Given the description of an element on the screen output the (x, y) to click on. 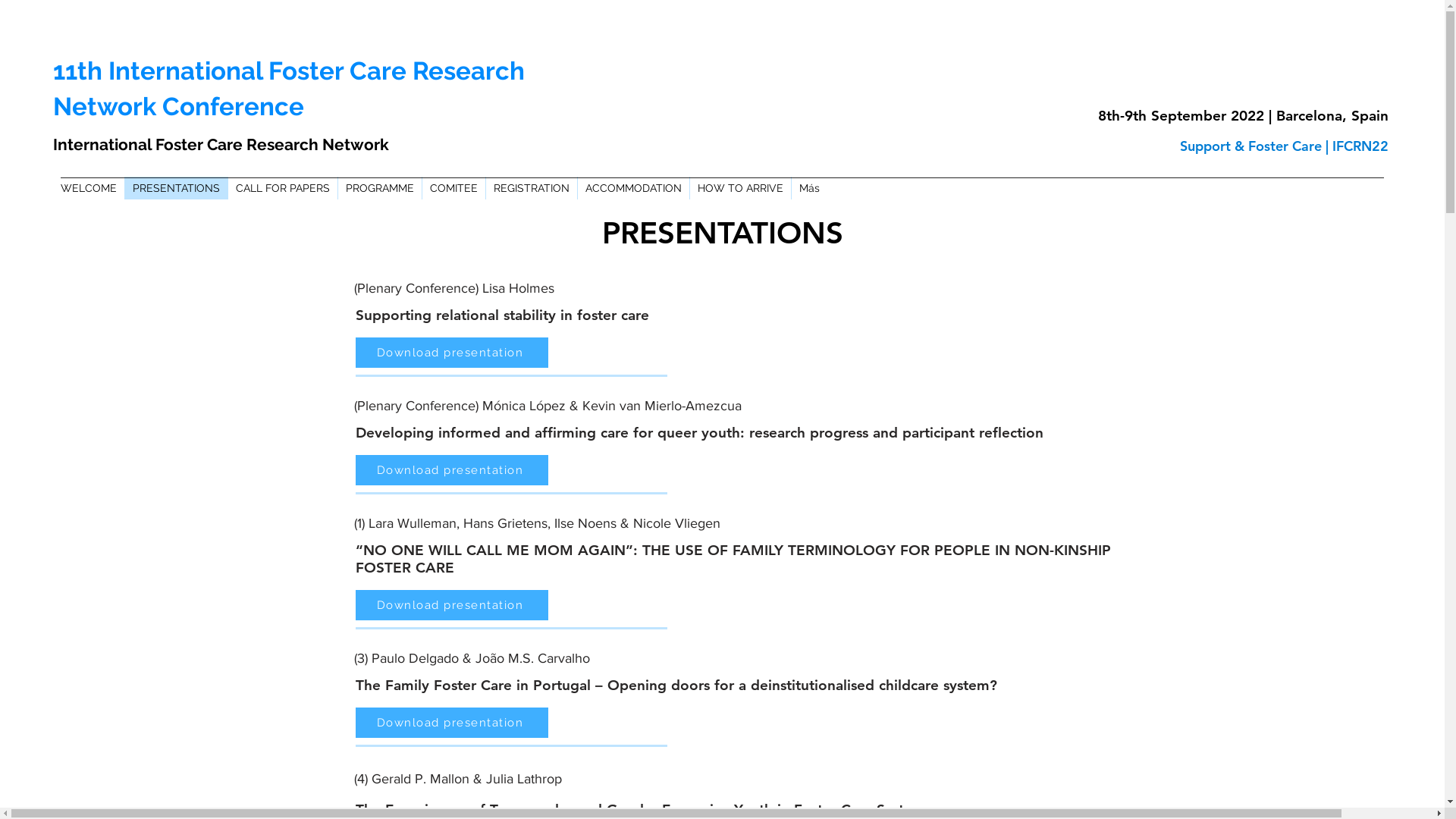
REGISTRATION Element type: text (531, 187)
Wix Chat Element type: hover (1349, 774)
Download presentation Element type: text (450, 604)
COMITEE Element type: text (453, 187)
Download presentation Element type: text (450, 470)
WELCOME Element type: text (88, 187)
ACCOMMODATION Element type: text (633, 187)
PROGRAMME Element type: text (379, 187)
HOW TO ARRIVE Element type: text (739, 187)
Download presentation Element type: text (450, 722)
11th International Foster Care Research Network Conference Element type: text (288, 88)
CALL FOR PAPERS Element type: text (282, 187)
PRESENTATIONS Element type: text (175, 187)
Download presentation Element type: text (450, 352)
